Given the description of an element on the screen output the (x, y) to click on. 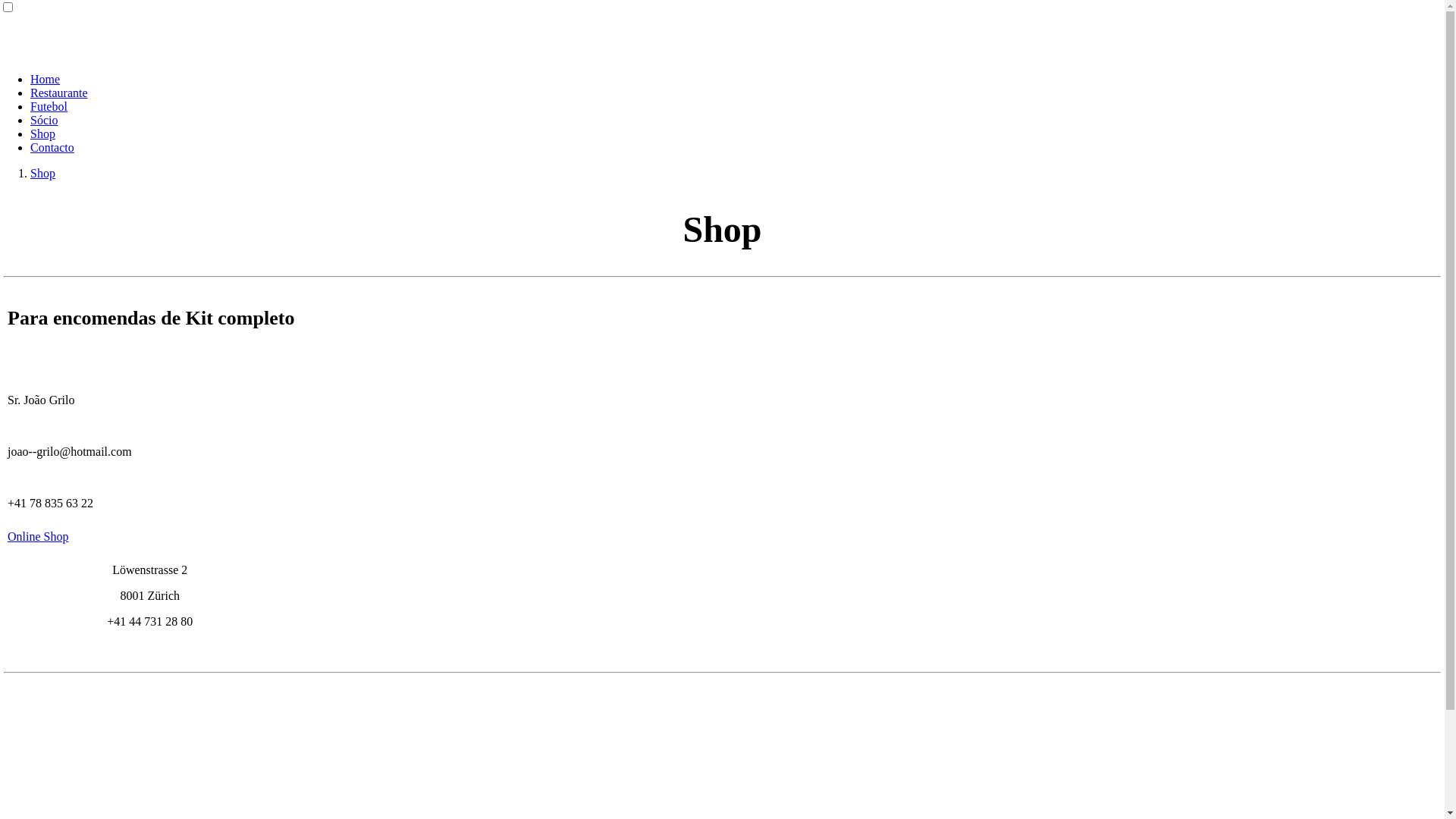
Online Shop Element type: text (37, 536)
Restaurante Element type: text (58, 92)
Futebol Element type: text (48, 106)
Home Element type: text (44, 78)
Shop Element type: text (42, 172)
Contacto Element type: text (52, 147)
Shop Element type: text (42, 133)
